Given the description of an element on the screen output the (x, y) to click on. 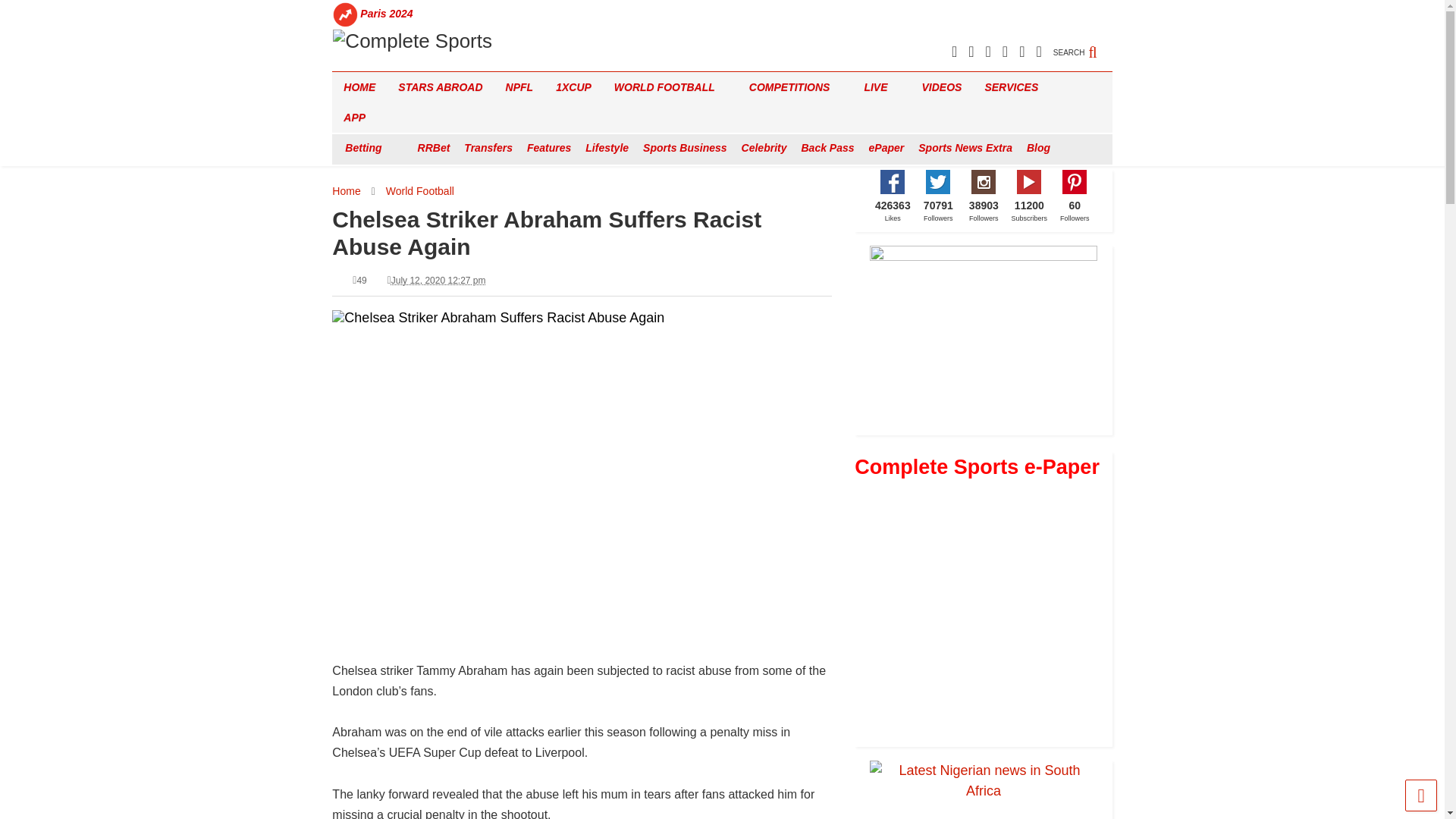
COMPETITIONS (795, 87)
SEARCH (1082, 44)
July 12, 2020 12:27 pm (438, 280)
1XCUP (573, 87)
SERVICES (1016, 87)
Complete Sports (411, 40)
Paris 2024 (386, 13)
STARS ABROAD (440, 87)
HOME (359, 87)
WORLD FOOTBALL (670, 87)
